Given the description of an element on the screen output the (x, y) to click on. 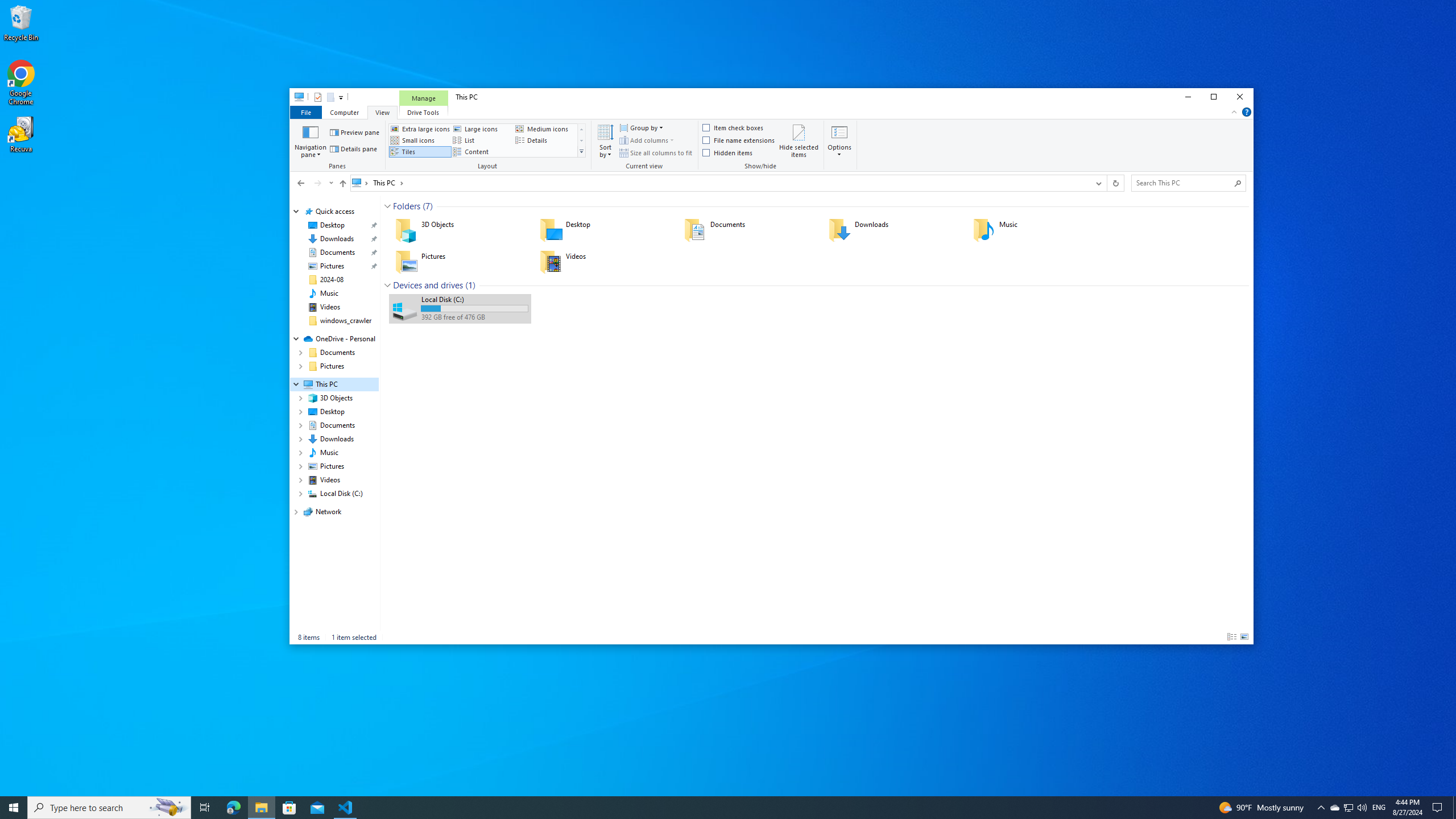
Search Box (1182, 182)
New folder (330, 96)
Address band toolbar (1106, 182)
Add columns (646, 140)
Details pane (353, 148)
File Explorer - 1 running window (261, 807)
Hide selected items (798, 140)
Documents (748, 229)
Row up (580, 129)
windows_crawler (345, 320)
